Given the description of an element on the screen output the (x, y) to click on. 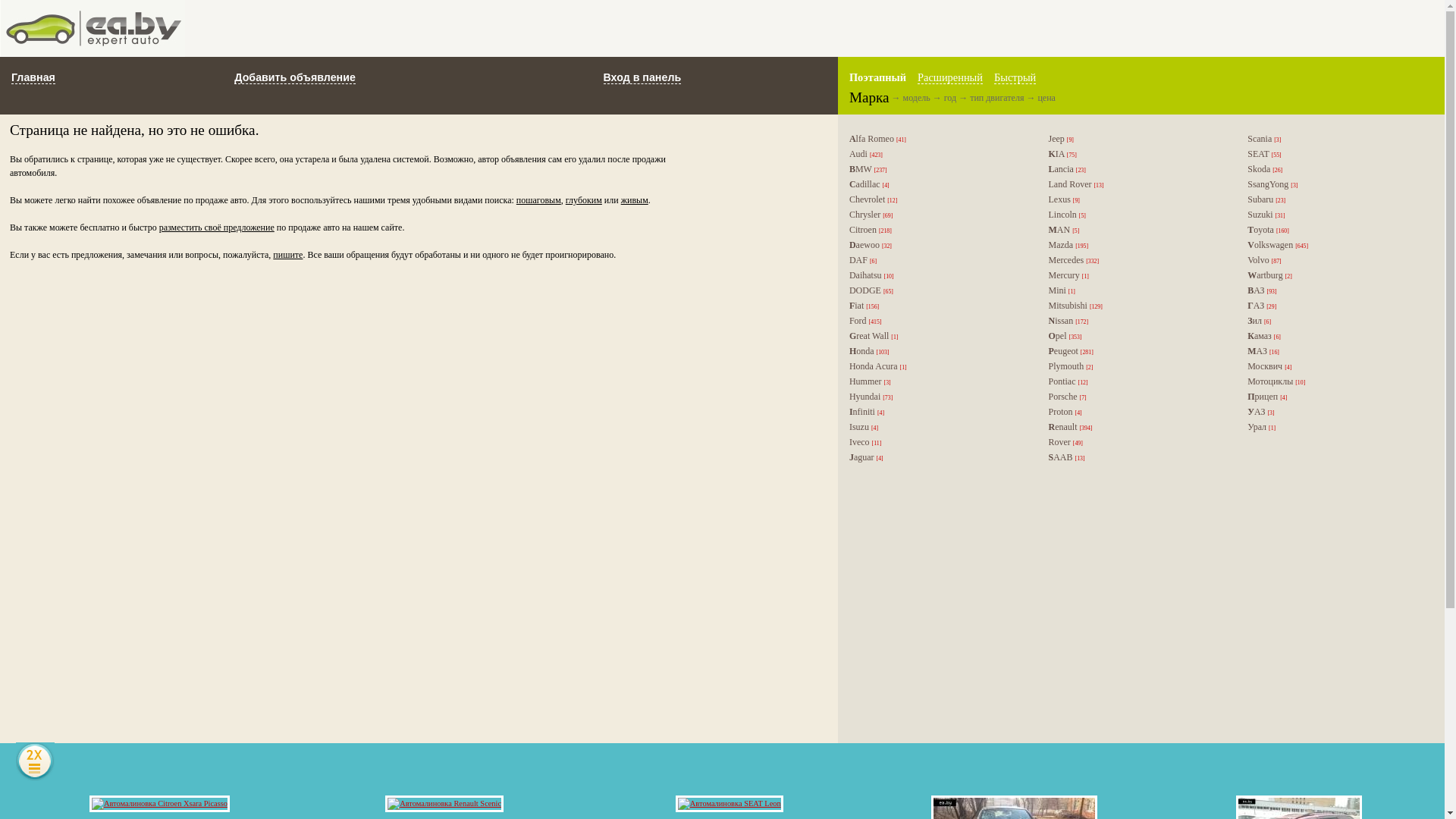
SEAT [55] Element type: text (1335, 154)
Lincoln [5] Element type: text (1136, 214)
Lancia [23] Element type: text (1136, 169)
Infiniti [4] Element type: text (937, 412)
Mitsubishi [129] Element type: text (1136, 305)
Hyundai [73] Element type: text (937, 396)
Rover [49] Element type: text (1136, 442)
Citroen [218] Element type: text (937, 230)
Daewoo [32] Element type: text (937, 245)
Opel [353] Element type: text (1136, 336)
DAF [6] Element type: text (937, 260)
Advertisement Element type: hover (814, 28)
Wartburg [2] Element type: text (1335, 275)
Nissan [172] Element type: text (1136, 321)
Subaru [23] Element type: text (1335, 199)
Toyota [160] Element type: text (1335, 230)
SsangYong [3] Element type: text (1335, 184)
Cadillac [4] Element type: text (937, 184)
MAN [5] Element type: text (1136, 230)
KIA [75] Element type: text (1136, 154)
Pontiac [12] Element type: text (1136, 381)
Volkswagen [645] Element type: text (1335, 245)
Lexus [9] Element type: text (1136, 199)
Chevrolet [12] Element type: text (937, 199)
Honda [103] Element type: text (937, 351)
Mazda [195] Element type: text (1136, 245)
Mercury [1] Element type: text (1136, 275)
Suzuki [31] Element type: text (1335, 214)
Honda Acura [1] Element type: text (937, 366)
Volvo [87] Element type: text (1335, 260)
Iveco [11] Element type: text (937, 442)
BMW [237] Element type: text (937, 169)
Hummer [3] Element type: text (937, 381)
Chrysler [69] Element type: text (937, 214)
Great Wall [1] Element type: text (937, 336)
Audi [423] Element type: text (937, 154)
Ford [415] Element type: text (937, 321)
Porsche [7] Element type: text (1136, 396)
Scania [3] Element type: text (1335, 139)
Mercedes [332] Element type: text (1136, 260)
Jeep [9] Element type: text (1136, 139)
SAAB [13] Element type: text (1136, 457)
Advertisement Element type: hover (1138, 612)
DODGE [65] Element type: text (937, 290)
Alfa Romeo [41] Element type: text (937, 139)
Skoda [26] Element type: text (1335, 169)
Land Rover [13] Element type: text (1136, 184)
Isuzu [4] Element type: text (937, 427)
Daihatsu [10] Element type: text (937, 275)
Peugeot [281] Element type: text (1136, 351)
Plymouth [2] Element type: text (1136, 366)
Fiat [156] Element type: text (937, 305)
Renault [394] Element type: text (1136, 427)
Jaguar [4] Element type: text (937, 457)
Proton [4] Element type: text (1136, 412)
Mini [1] Element type: text (1136, 290)
